Given the description of an element on the screen output the (x, y) to click on. 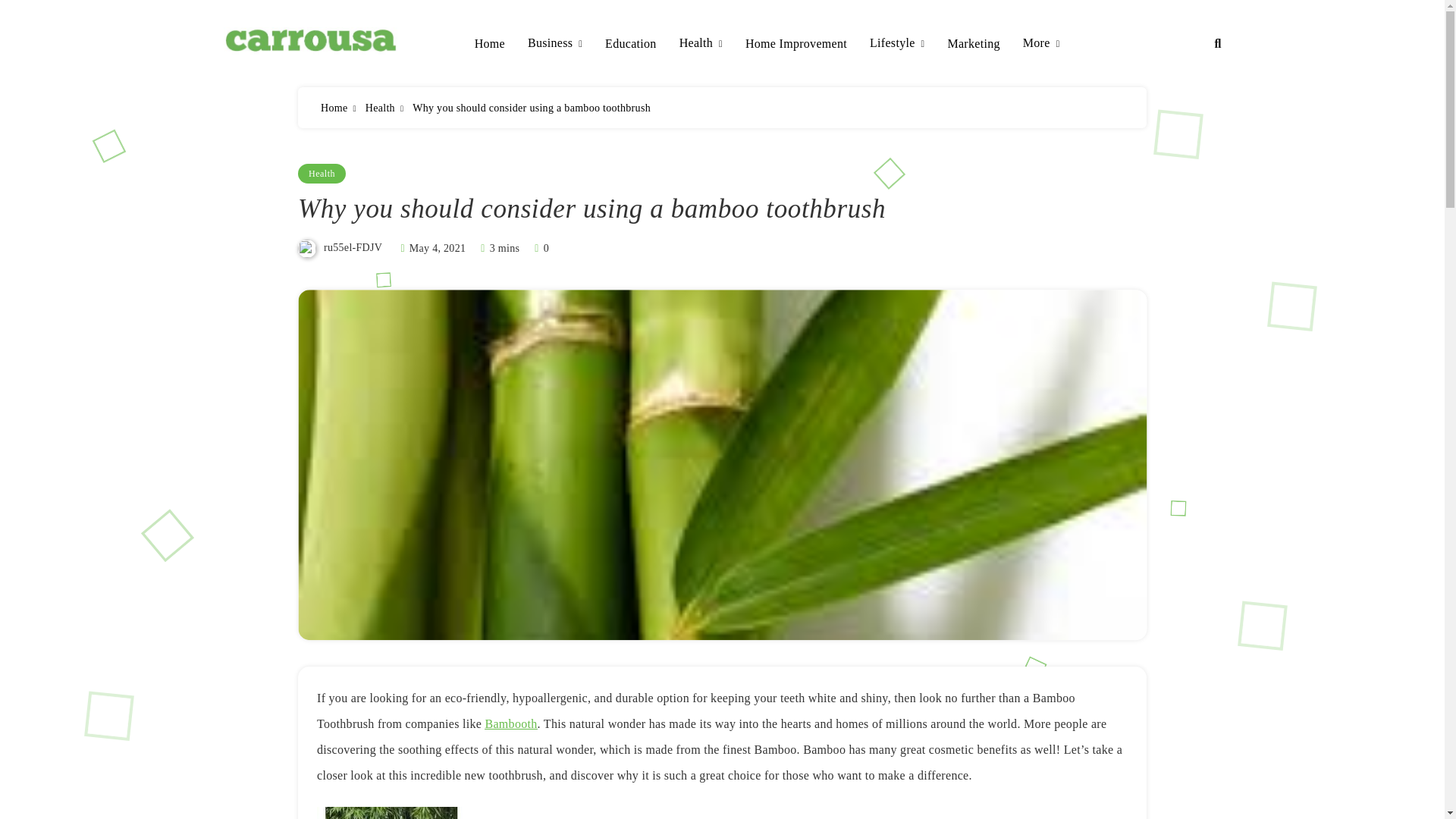
Education (630, 44)
CARROUSSA (307, 76)
Lifestyle (896, 43)
Health (379, 107)
Health (700, 43)
Home (489, 44)
More (1041, 43)
ru55el-FDJV (352, 247)
Marketing (972, 44)
Home (333, 107)
